Given the description of an element on the screen output the (x, y) to click on. 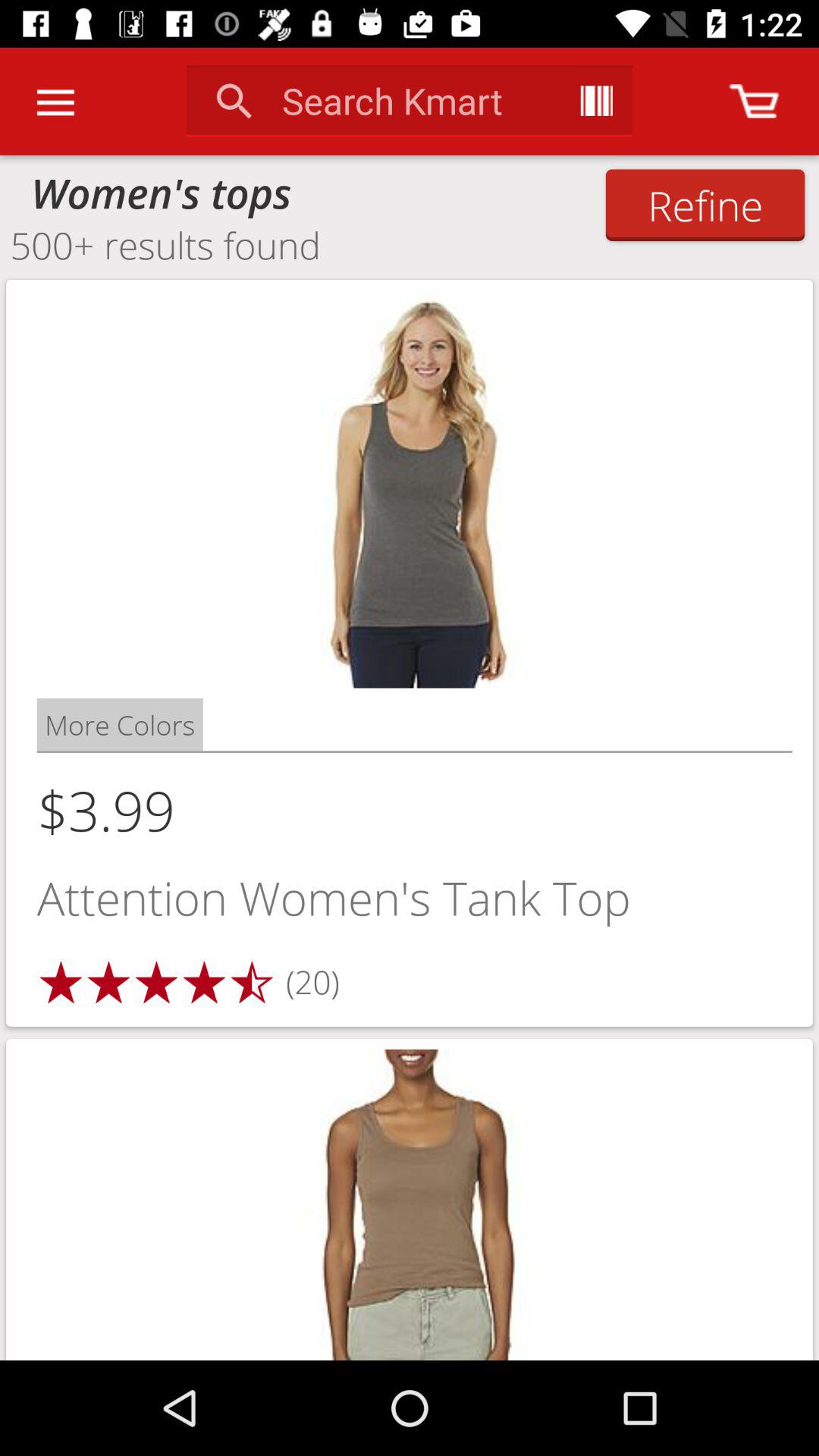
scan barcode (596, 100)
